Given the description of an element on the screen output the (x, y) to click on. 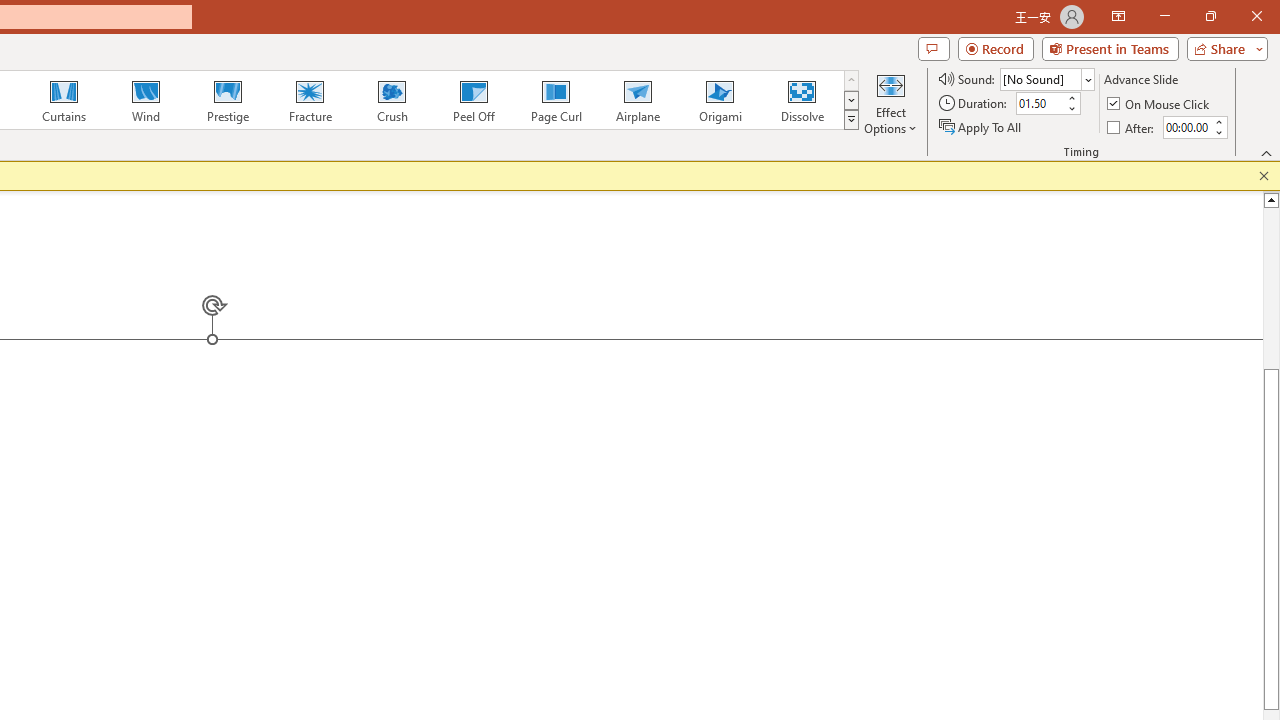
Page Curl (555, 100)
Crush (391, 100)
After (1131, 126)
Airplane (637, 100)
Transition Effects (850, 120)
Apply To All (981, 126)
Fracture (309, 100)
Duration (1039, 103)
Effect Options (890, 102)
